Given the description of an element on the screen output the (x, y) to click on. 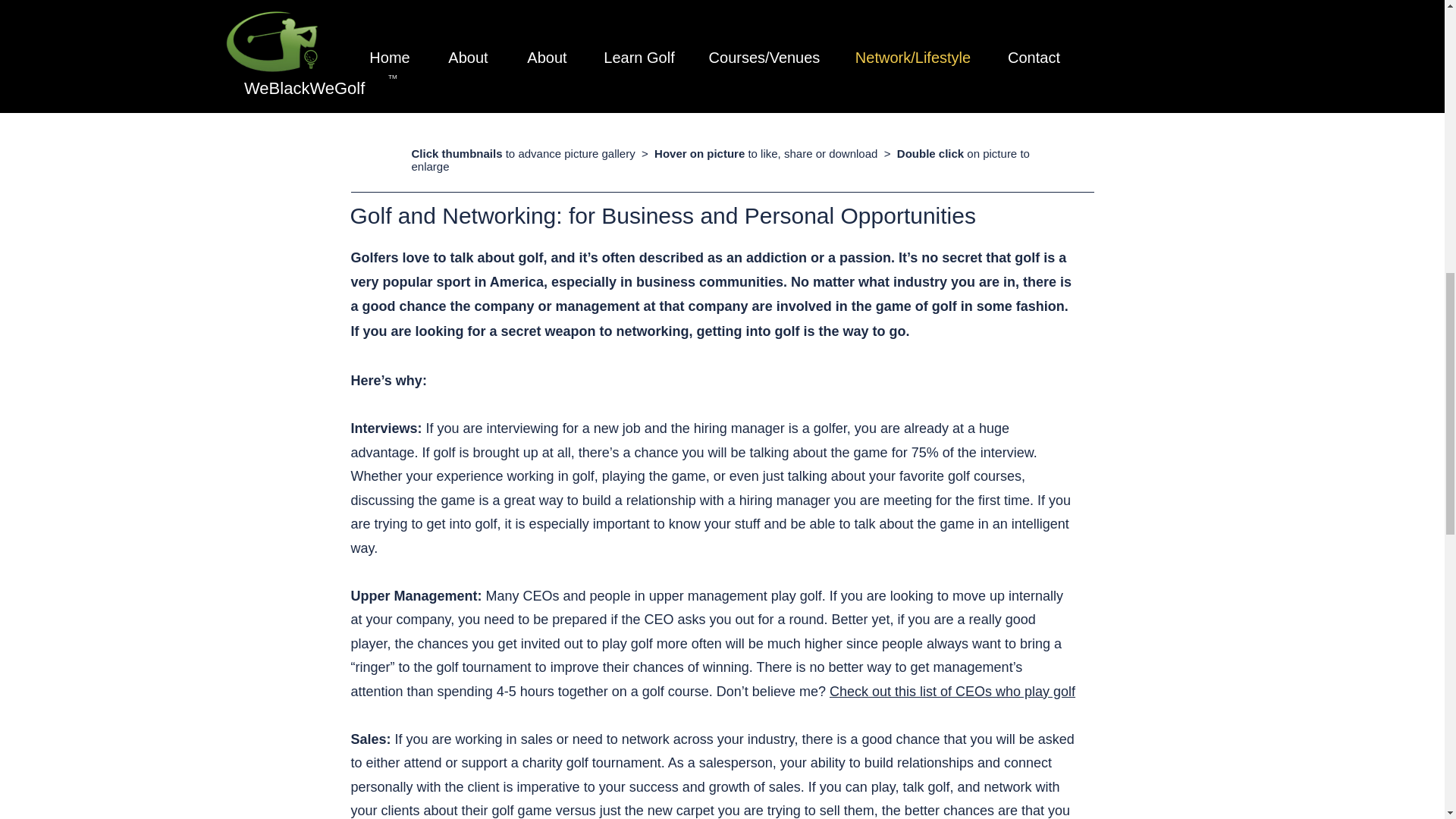
Check out this list of CEOs who play golf (952, 691)
